Given the description of an element on the screen output the (x, y) to click on. 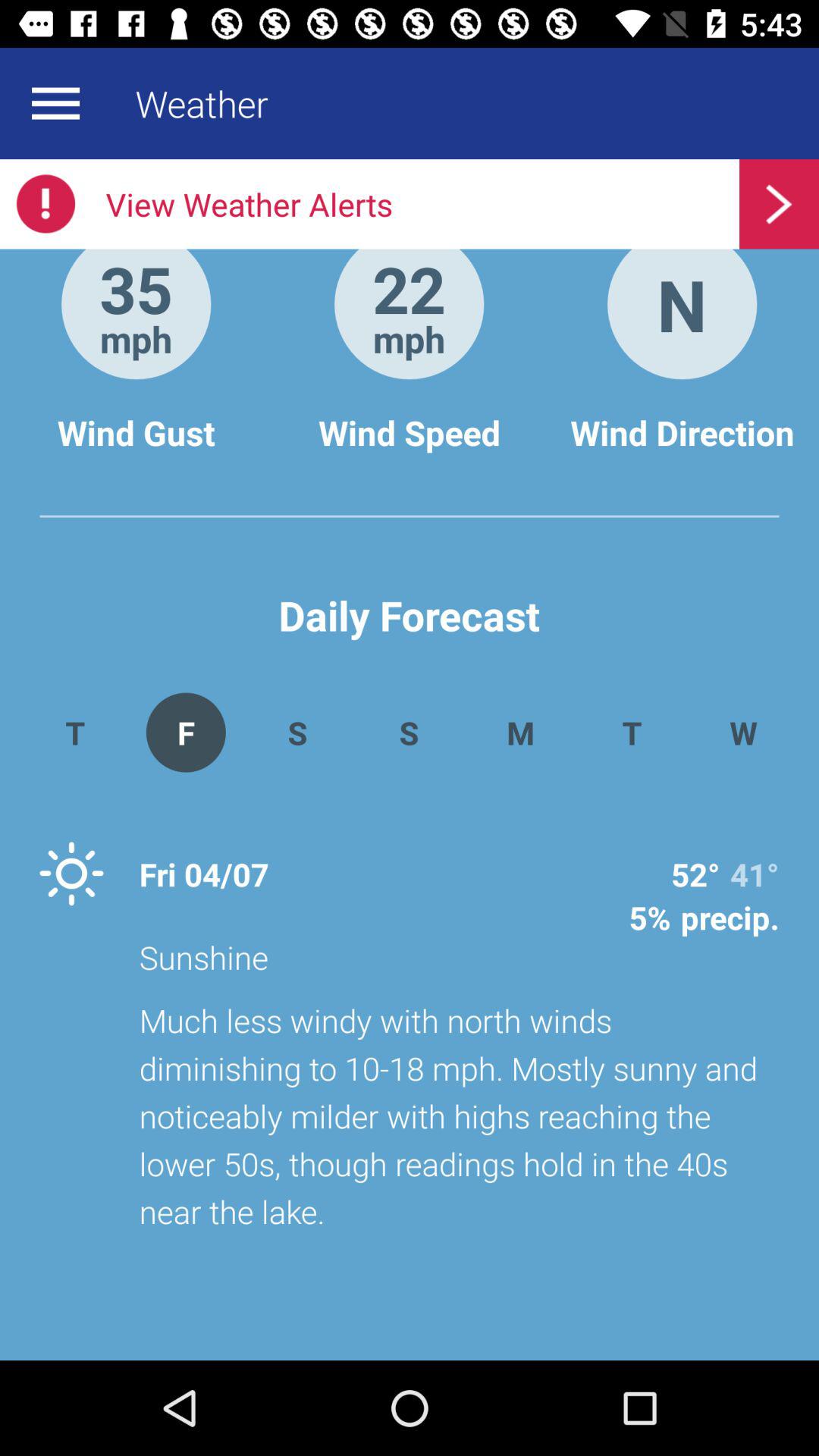
turn off icon next to the s item (185, 732)
